Given the description of an element on the screen output the (x, y) to click on. 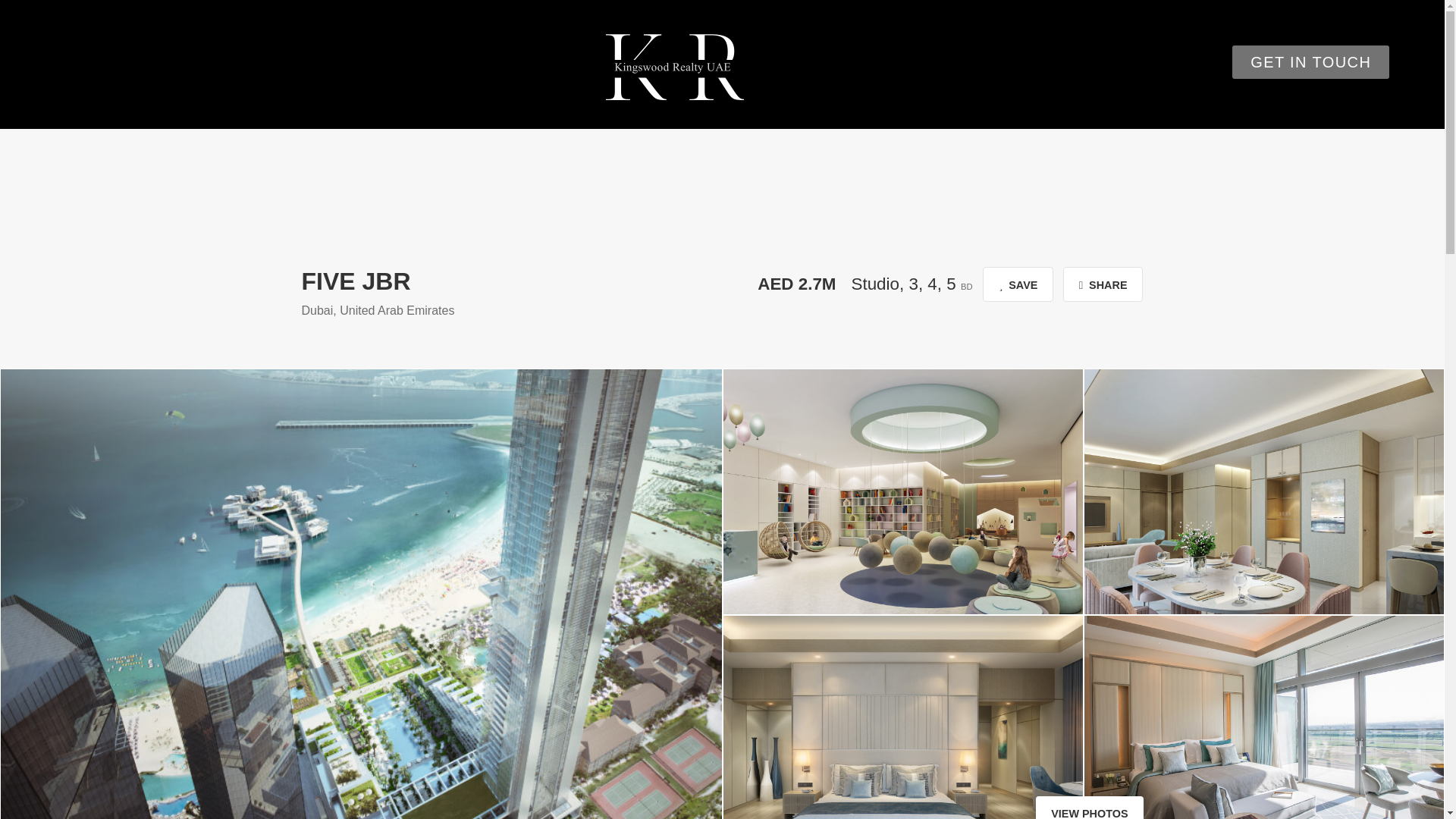
SAVE (1017, 284)
SHARE (1102, 284)
VIEW PHOTOS (1088, 807)
GET IN TOUCH (1310, 61)
